Given the description of an element on the screen output the (x, y) to click on. 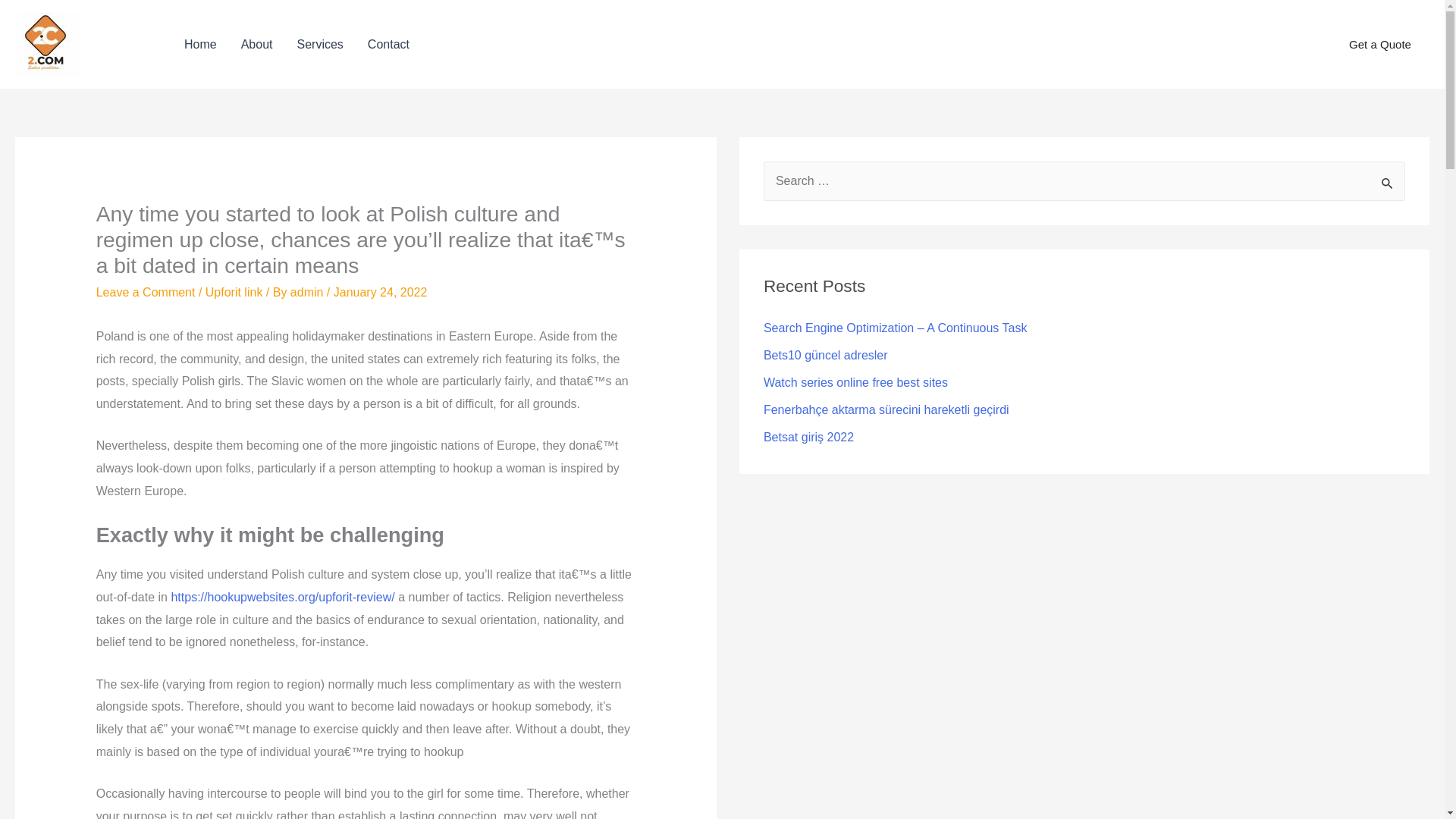
Get a Quote (1379, 44)
Upforit link (234, 291)
View all posts by admin (307, 291)
admin (307, 291)
Leave a Comment (145, 291)
Watch series online free best sites (854, 382)
